Given the description of an element on the screen output the (x, y) to click on. 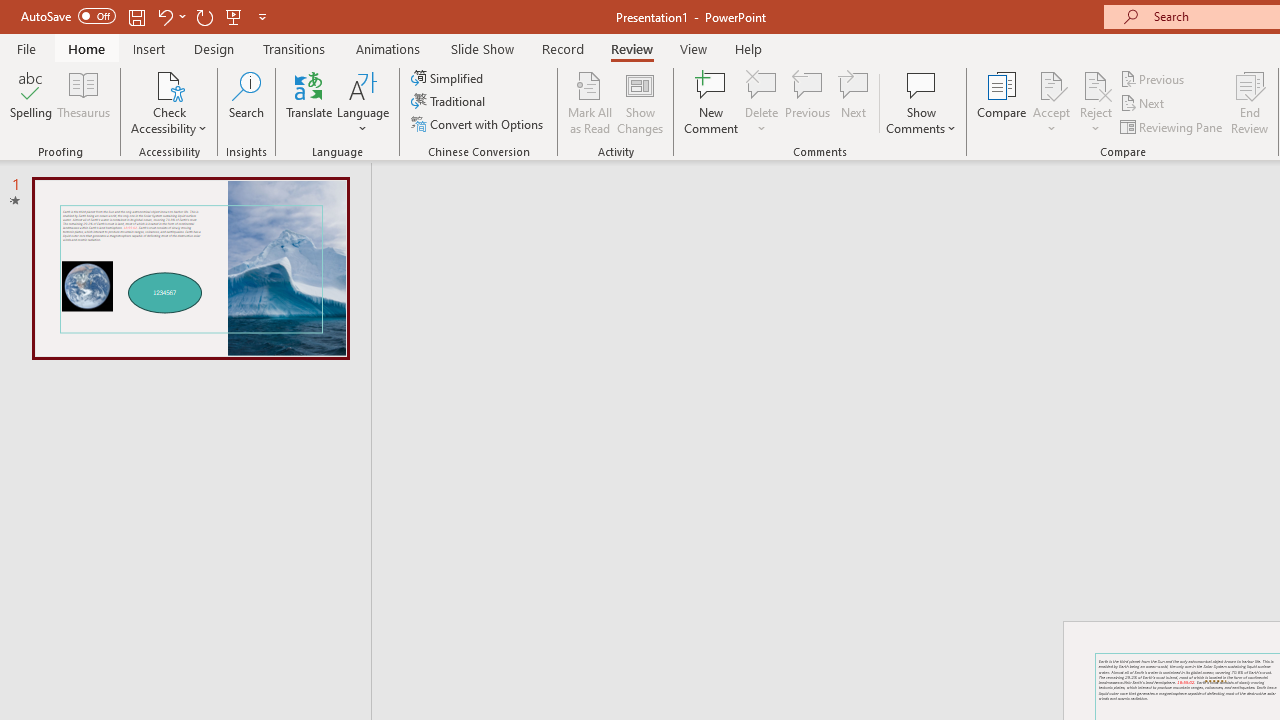
Search (246, 102)
Mark All as Read (589, 102)
